Given the description of an element on the screen output the (x, y) to click on. 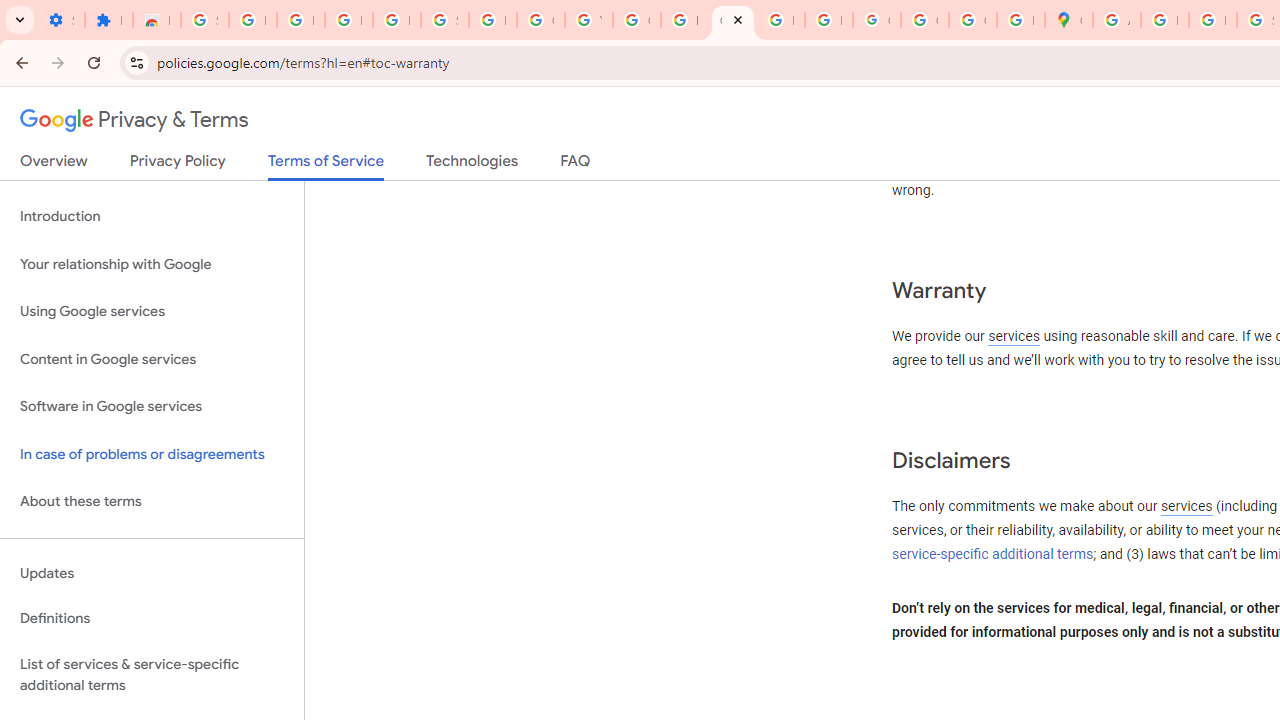
Technologies (472, 165)
Content in Google services (152, 358)
Your relationship with Google (152, 263)
Learn how to find your photos - Google Photos Help (348, 20)
Introduction (152, 216)
Using Google services (152, 312)
Settings - On startup (60, 20)
